Given the description of an element on the screen output the (x, y) to click on. 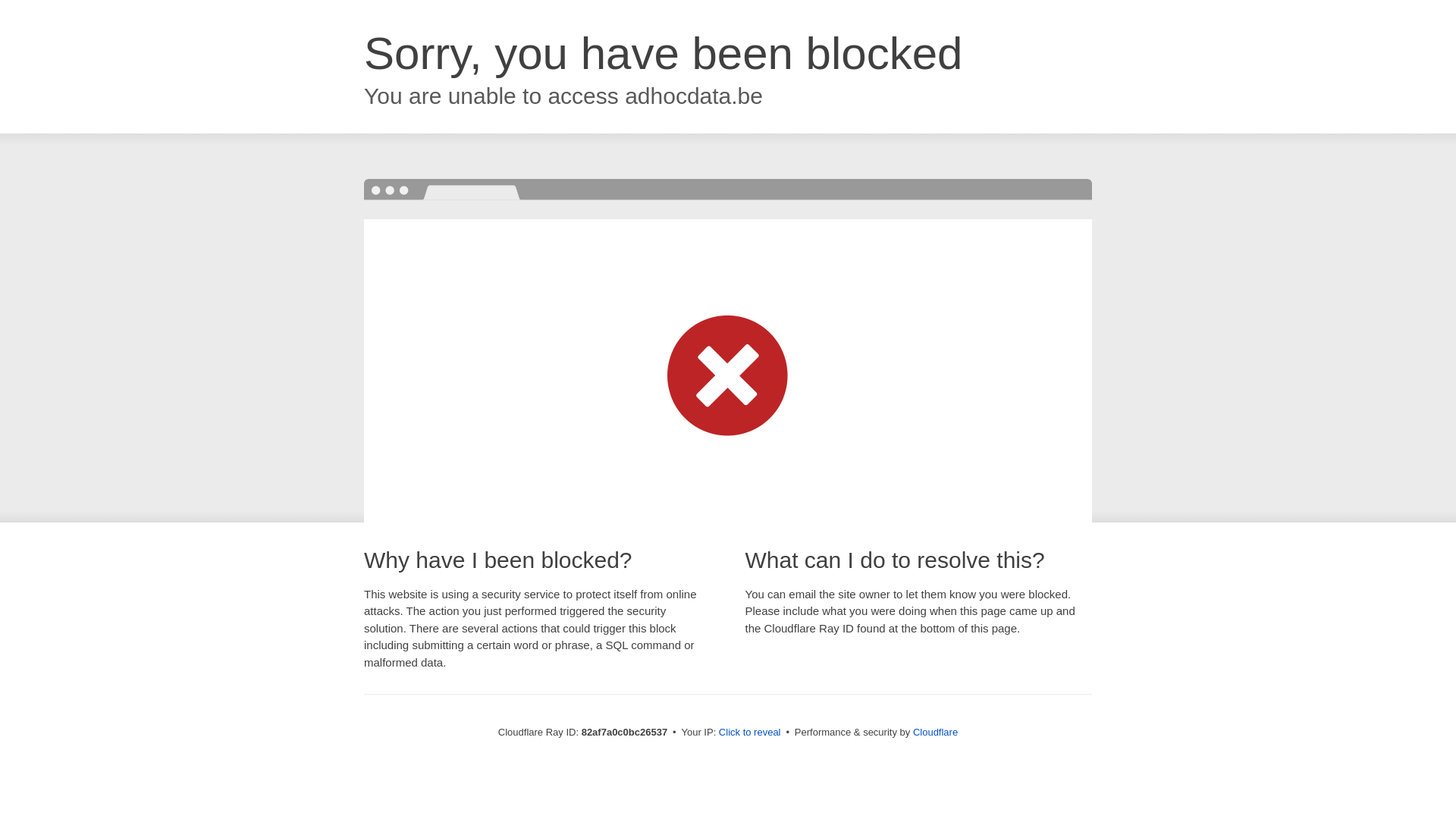
Cloudflare Element type: text (935, 731)
Click to reveal Element type: text (749, 732)
